Given the description of an element on the screen output the (x, y) to click on. 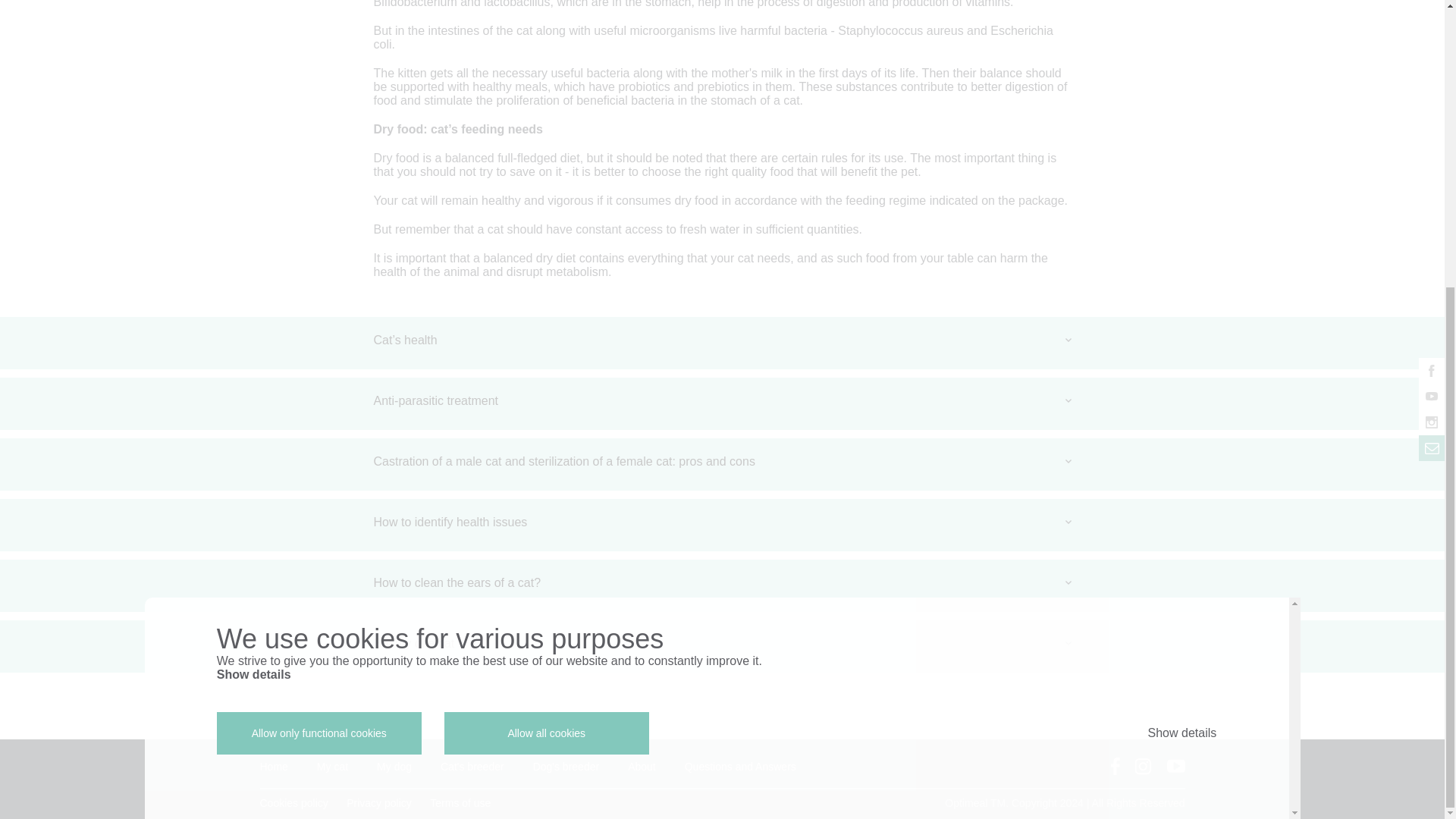
About (641, 766)
Cookies policy (293, 802)
Dog's breeder (565, 766)
Privacy policy (379, 802)
My dog (394, 766)
My cat (332, 766)
Cat's breeder (472, 766)
Home (272, 766)
Questions and Answers (740, 766)
Terms of use (459, 802)
